Given the description of an element on the screen output the (x, y) to click on. 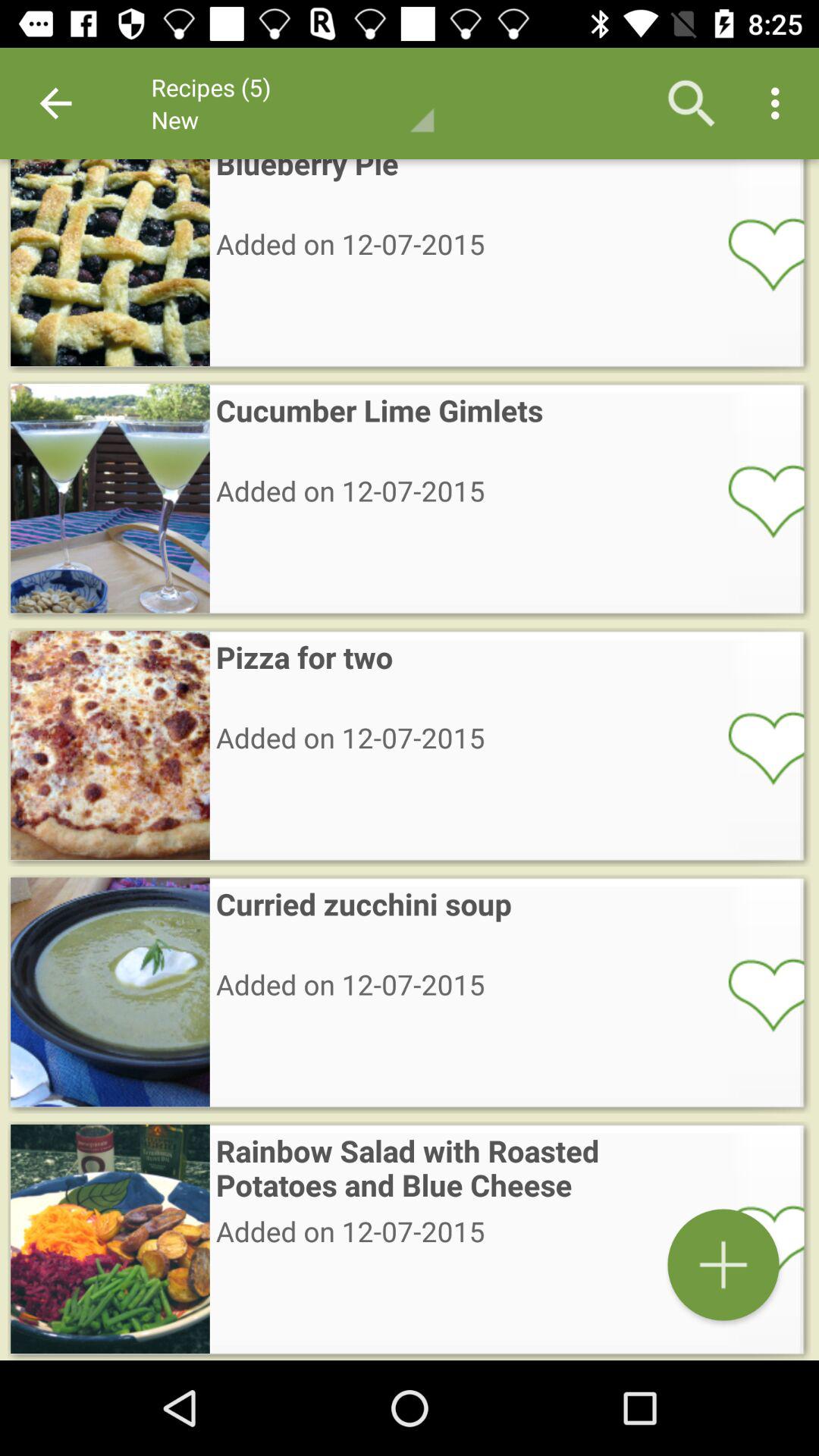
favorite the item (756, 1240)
